Given the description of an element on the screen output the (x, y) to click on. 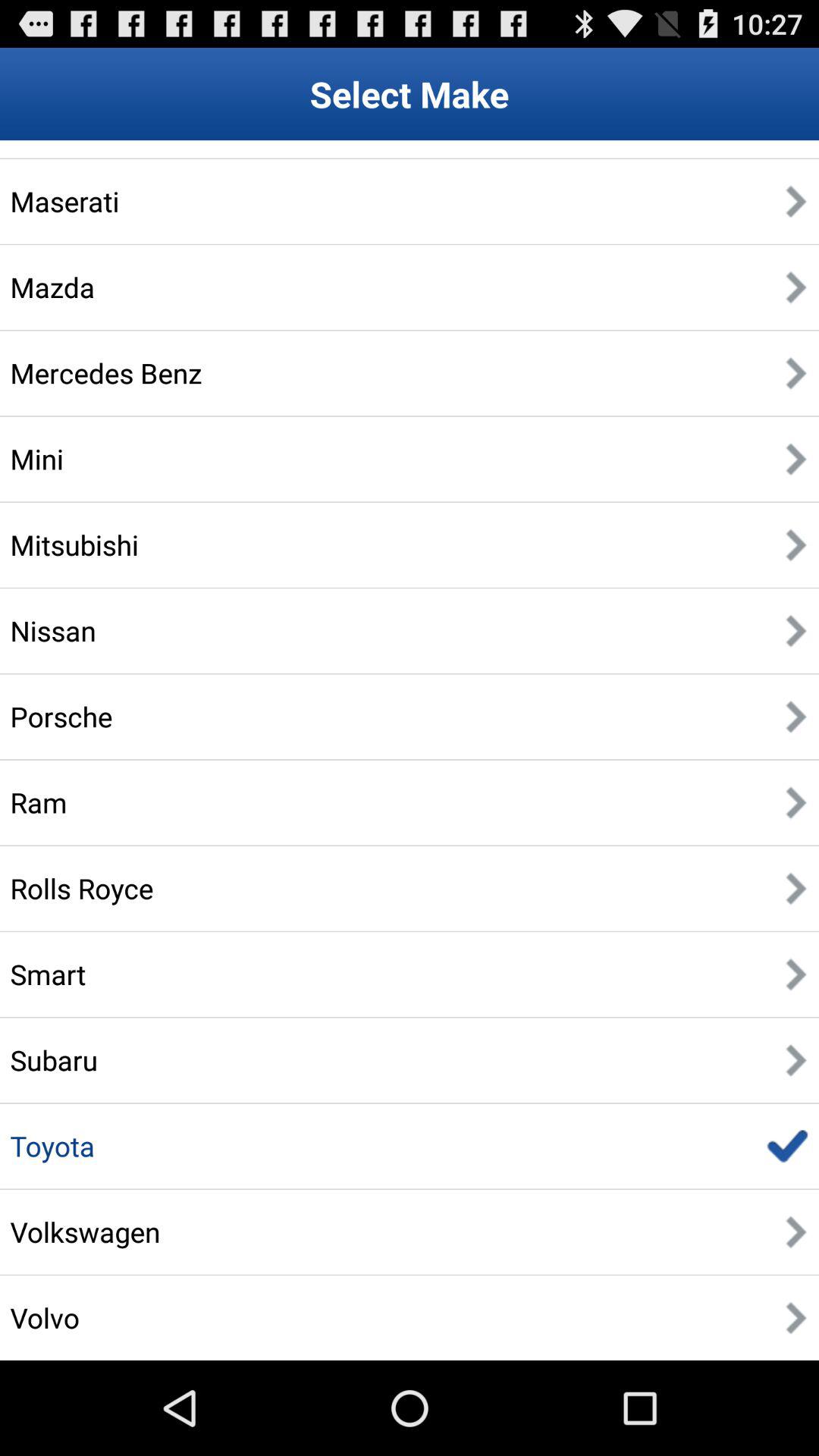
tap the item above subaru icon (47, 974)
